Given the description of an element on the screen output the (x, y) to click on. 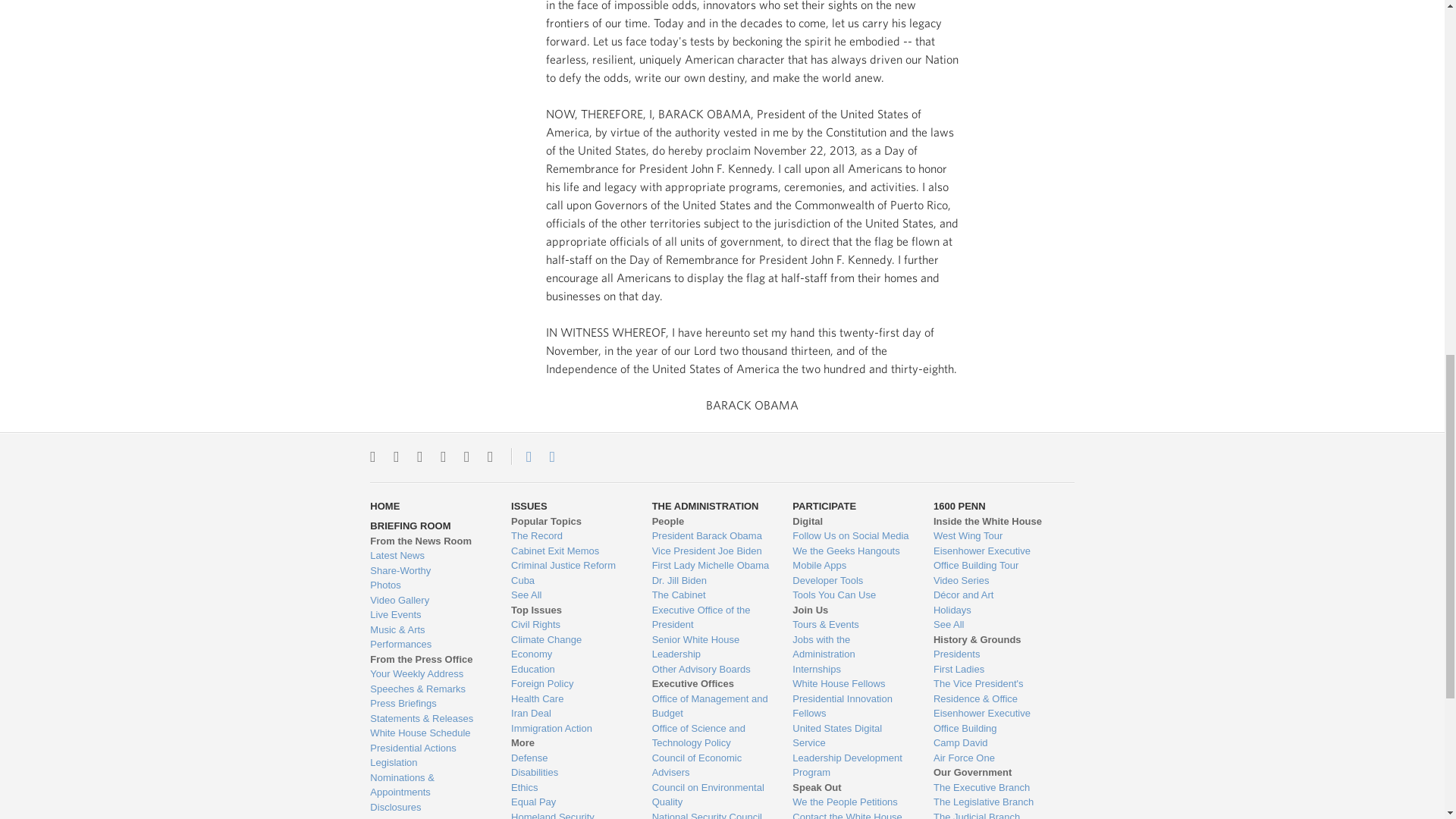
View the photo of the day and other galleries (428, 585)
Contact the Whitehouse. (521, 456)
Watch behind-the-scenes videos and more (428, 600)
Read the latest blog posts from 1600 Pennsylvania Ave (428, 555)
Check out the most popular infographics and videos (428, 570)
